Given the description of an element on the screen output the (x, y) to click on. 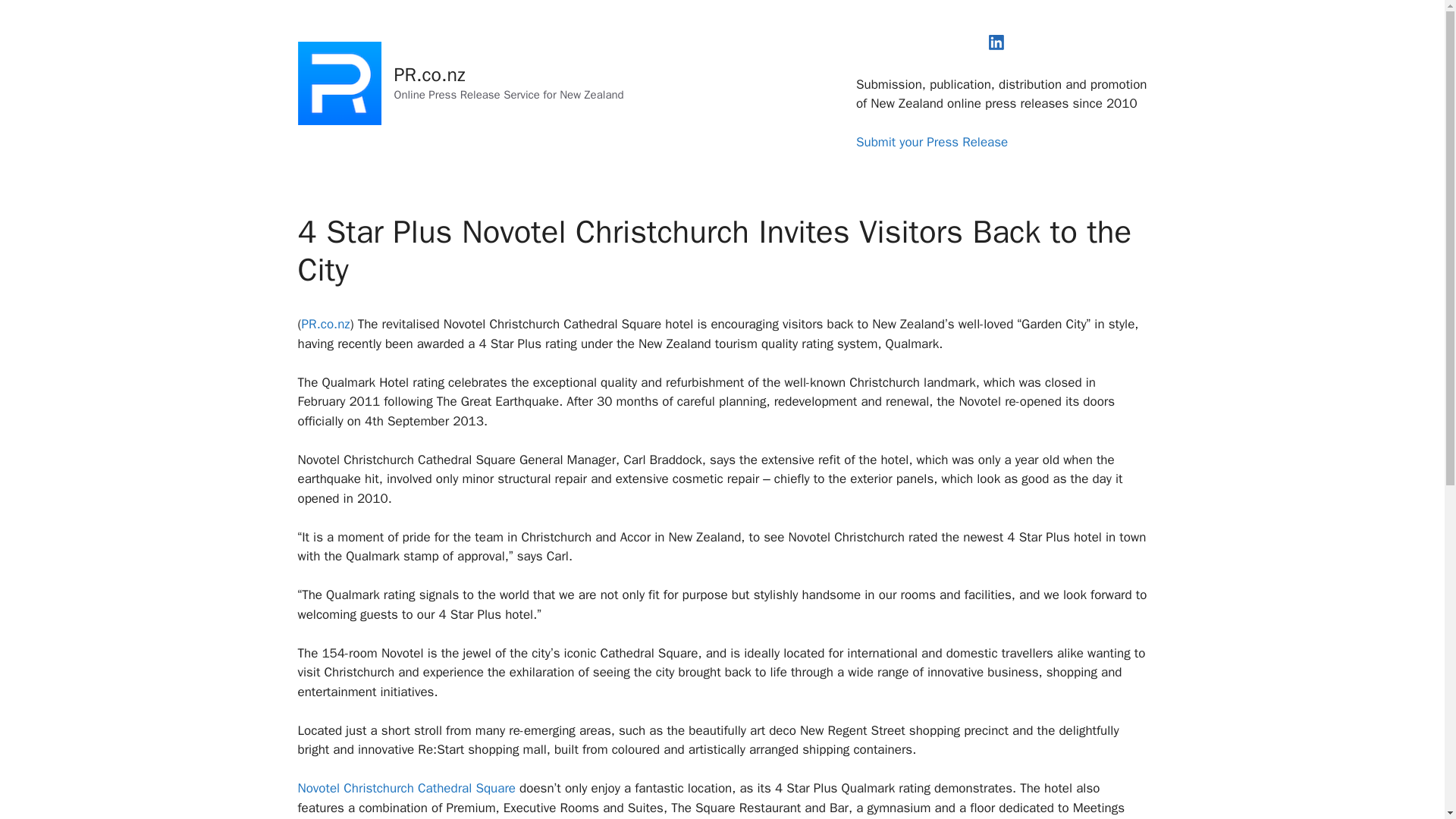
Novotel Christchurch Cathedral Square (406, 788)
PR.co.nz (429, 74)
PR.co.nz (325, 324)
Submit your Press Release (931, 141)
LinkedIn (996, 42)
